Given the description of an element on the screen output the (x, y) to click on. 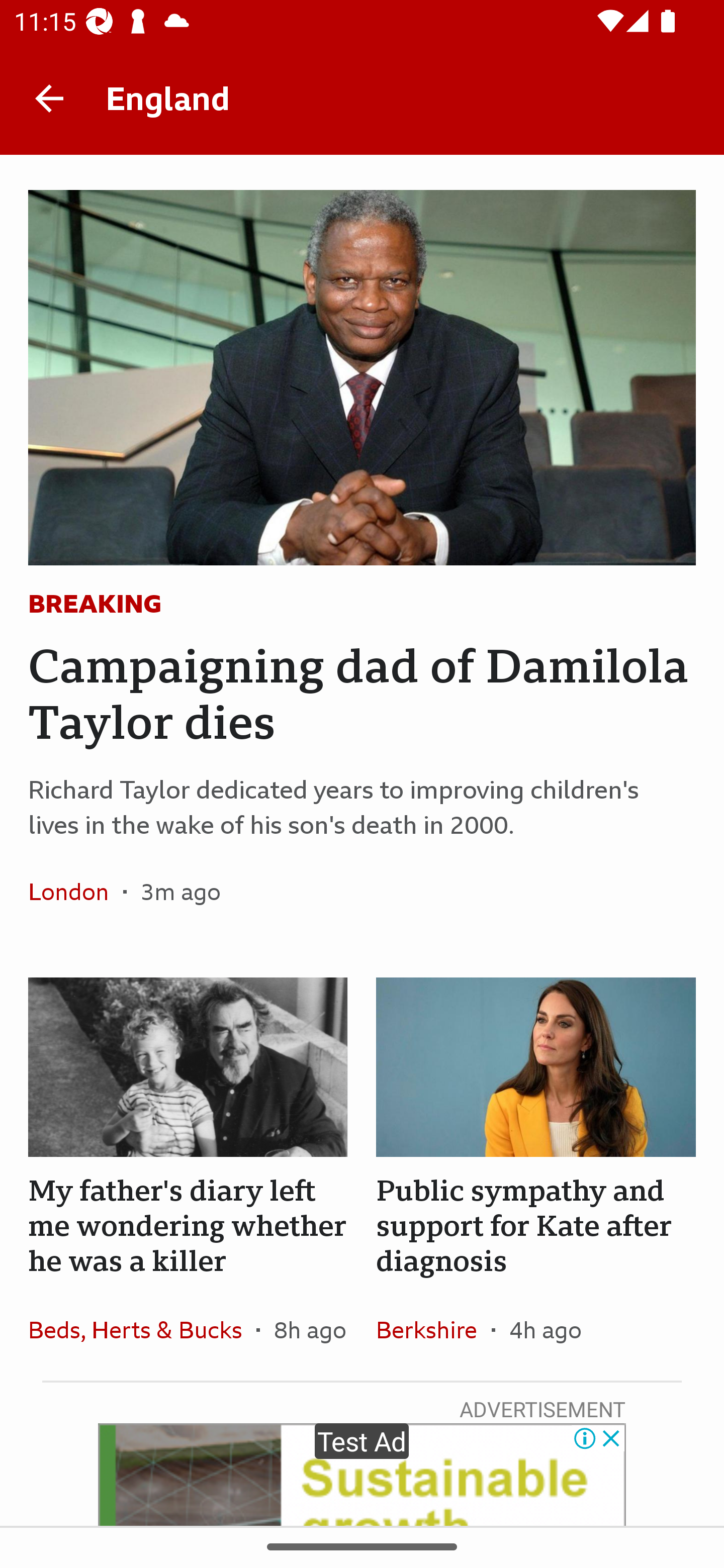
Back (49, 97)
London In the section London (75, 891)
Berkshire In the section Berkshire (433, 1329)
